Given the description of an element on the screen output the (x, y) to click on. 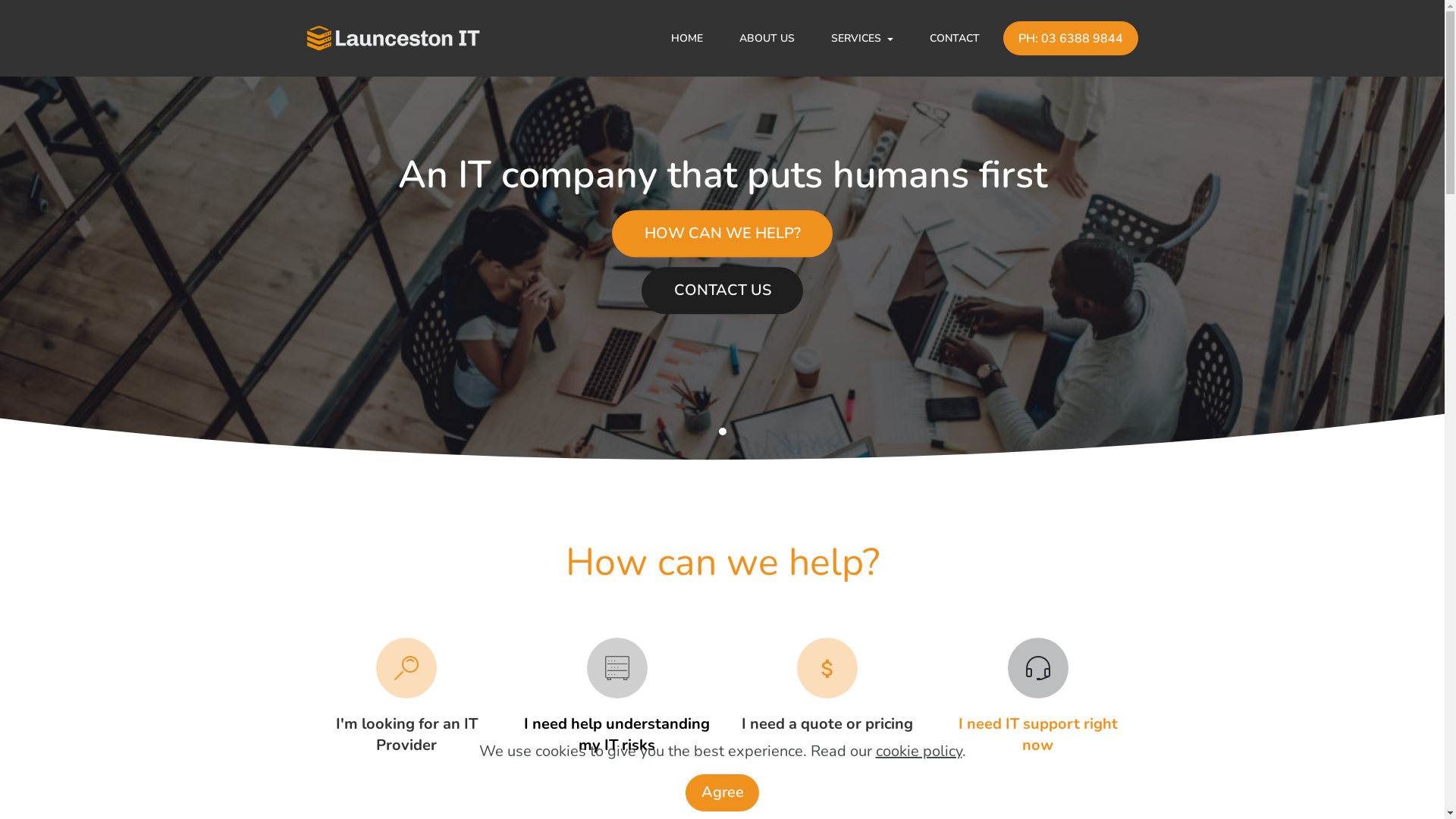
I need a quote or pricing Element type: text (827, 723)
HOW CAN WE HELP? Element type: text (721, 233)
SERVICES Element type: text (861, 38)
CONTACT US Element type: text (722, 289)
HOME Element type: text (686, 38)
PH: 03 6388 9844 Element type: text (1070, 38)
ABOUT US Element type: text (766, 38)
I need IT support right now Element type: text (1037, 734)
Launceston IT Element type: hover (392, 38)
I need help understanding my IT risks Element type: text (616, 734)
I'm looking for an IT Provider Element type: text (406, 734)
CONTACT Element type: text (954, 38)
Agree Element type: text (721, 792)
cookie policy Element type: text (918, 750)
